Given the description of an element on the screen output the (x, y) to click on. 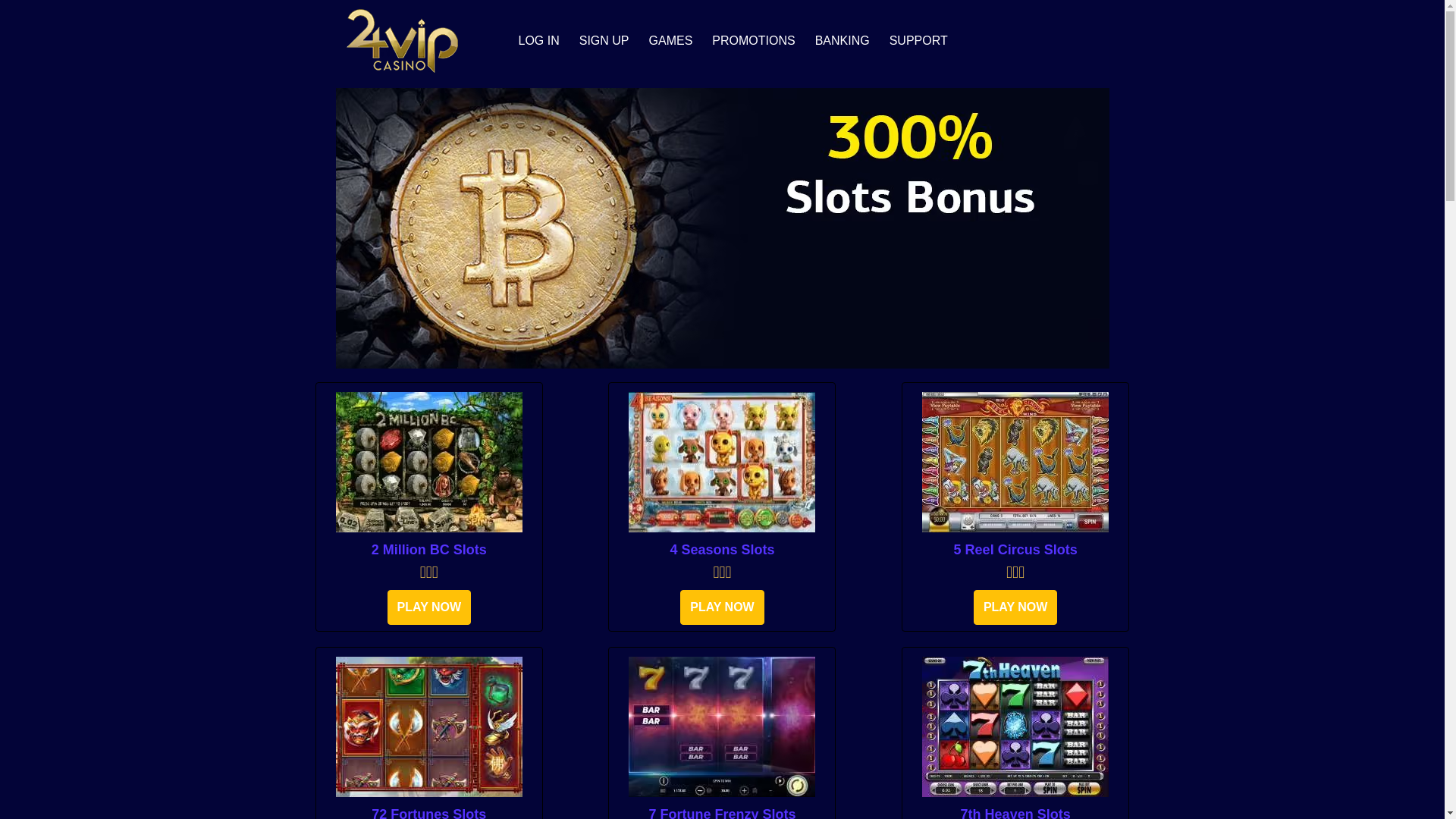
5 Reel Circus Slots Element type: hover (1015, 462)
SIGN UP Element type: text (604, 40)
72 Fortunes Slots Element type: hover (428, 726)
4 Seasons Slots Element type: text (721, 549)
4 Seasons Slots Element type: hover (721, 462)
7th Heaven Slots Element type: hover (1015, 726)
PLAY NOW Element type: text (428, 606)
GAMES Element type: text (671, 40)
7 Fortune Frenzy Slots Element type: hover (721, 726)
PROMOTIONS Element type: text (753, 40)
BANKING Element type: text (842, 40)
SUPPORT Element type: text (918, 40)
2 Million BC Slots Element type: hover (428, 462)
PLAY NOW Element type: text (1015, 606)
PLAY NOW Element type: text (721, 606)
5 Reel Circus Slots Element type: text (1015, 549)
2 Million BC Slots Element type: text (429, 549)
LOG IN Element type: text (538, 40)
